Given the description of an element on the screen output the (x, y) to click on. 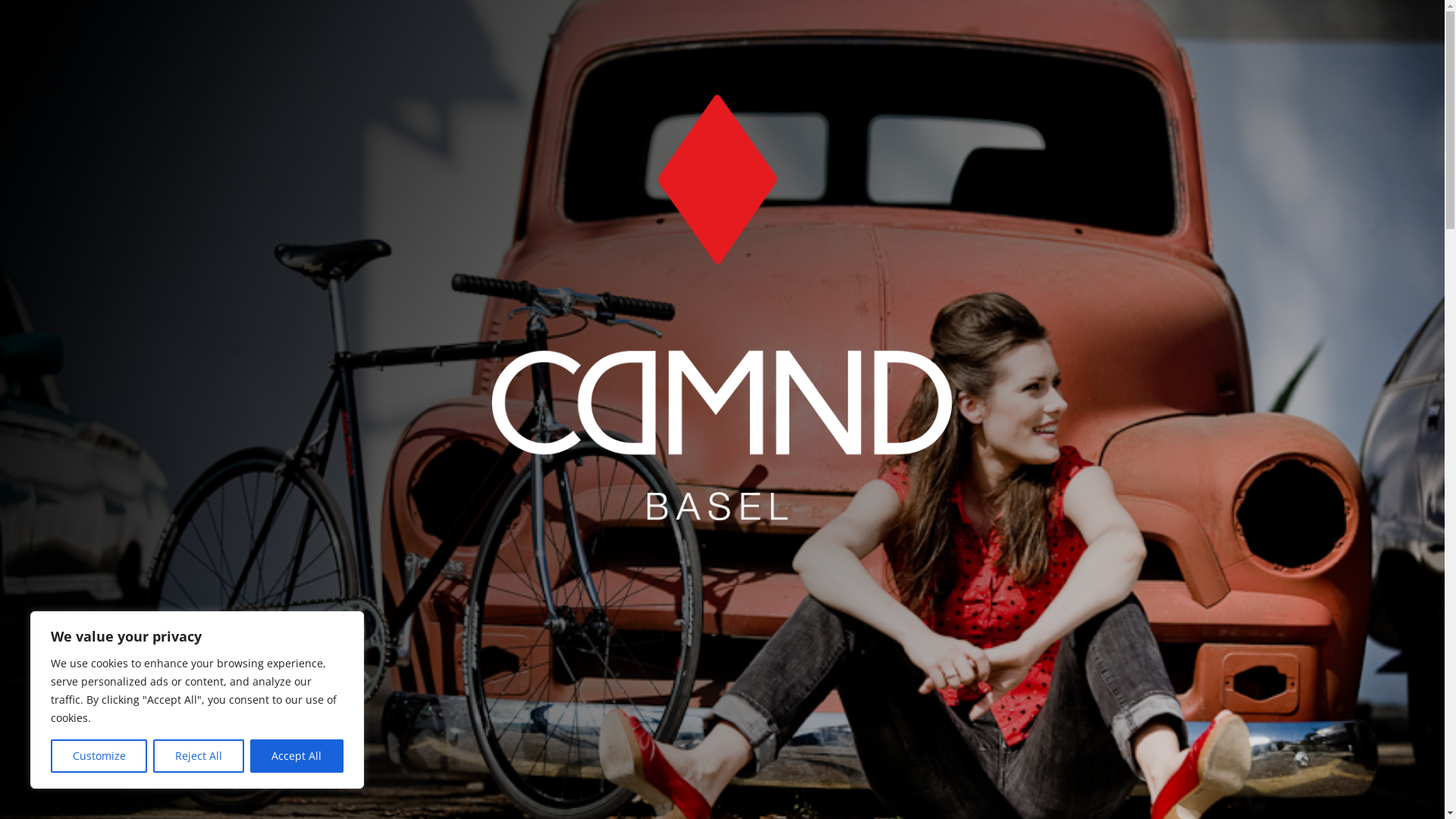
Customize Element type: text (98, 755)
Accept All Element type: text (296, 755)
Reject All Element type: text (198, 755)
